Given the description of an element on the screen output the (x, y) to click on. 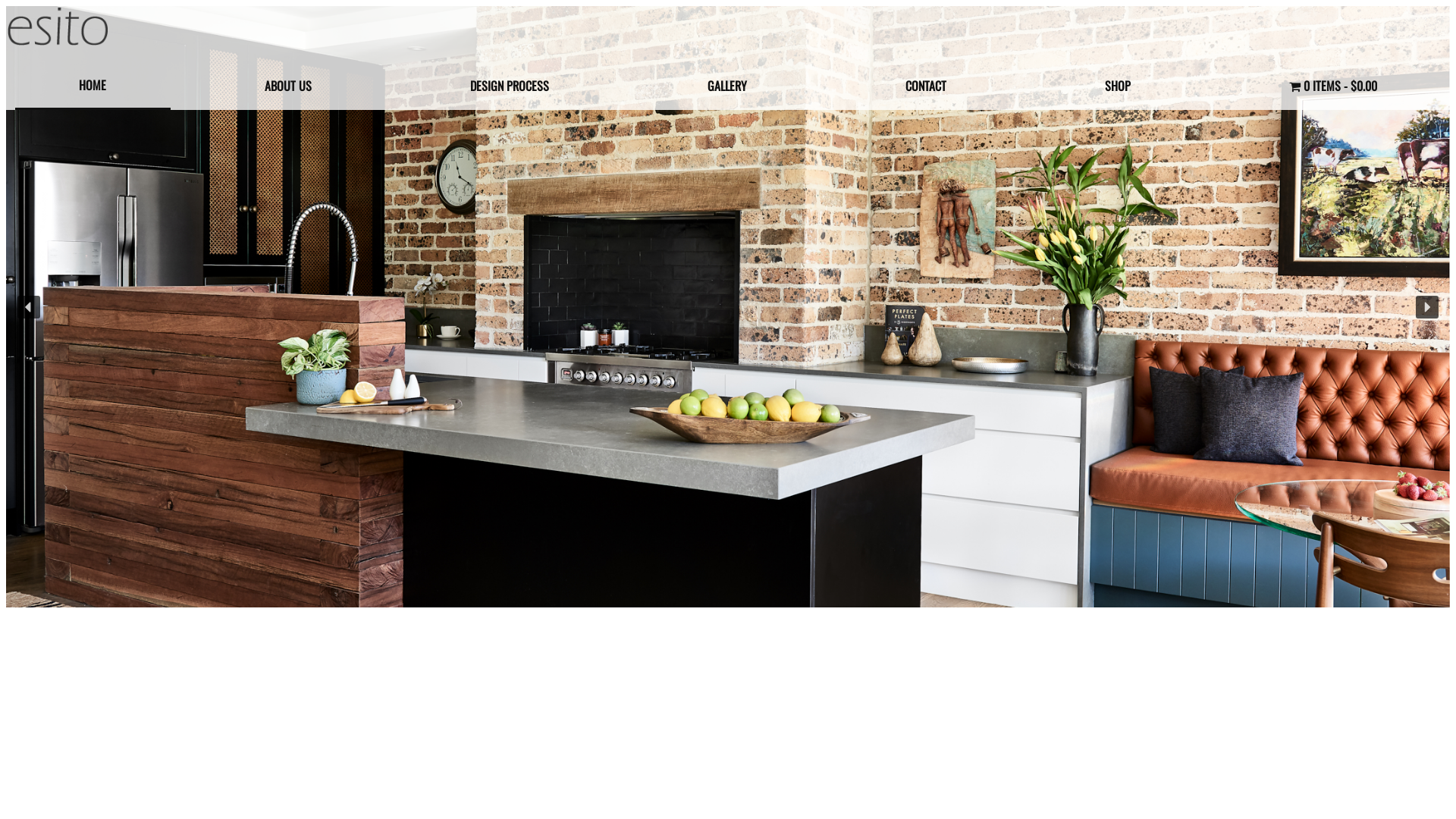
HOME Element type: text (92, 85)
CONTACT Element type: text (925, 85)
SHOP Element type: text (1117, 85)
DESIGN PROCESS Element type: text (509, 85)
0 ITEMS$0.00 Element type: text (1332, 85)
ABOUT US Element type: text (288, 85)
GALLERY Element type: text (727, 85)
